Given the description of an element on the screen output the (x, y) to click on. 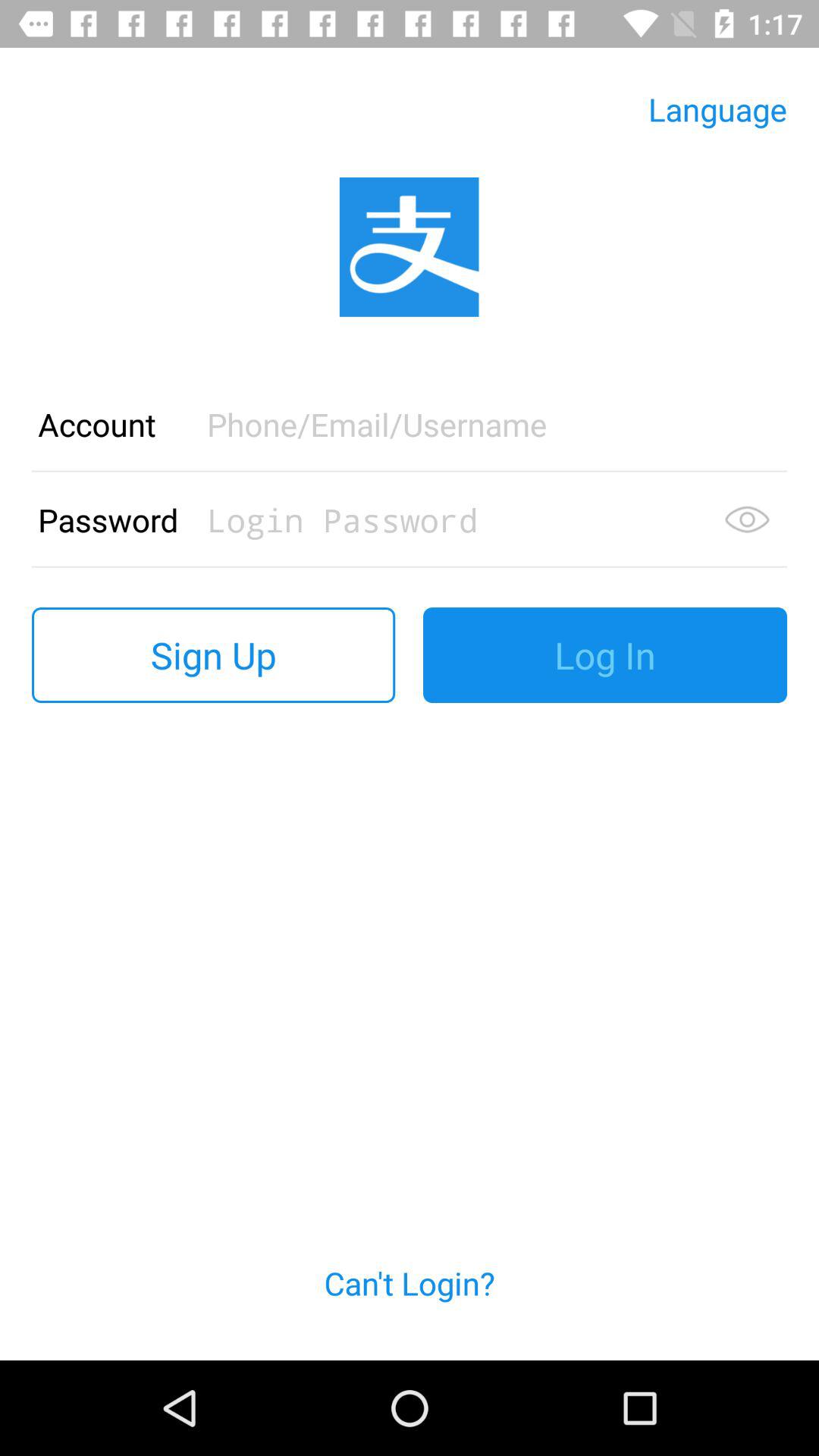
select the icon next to the sign up (605, 654)
